Given the description of an element on the screen output the (x, y) to click on. 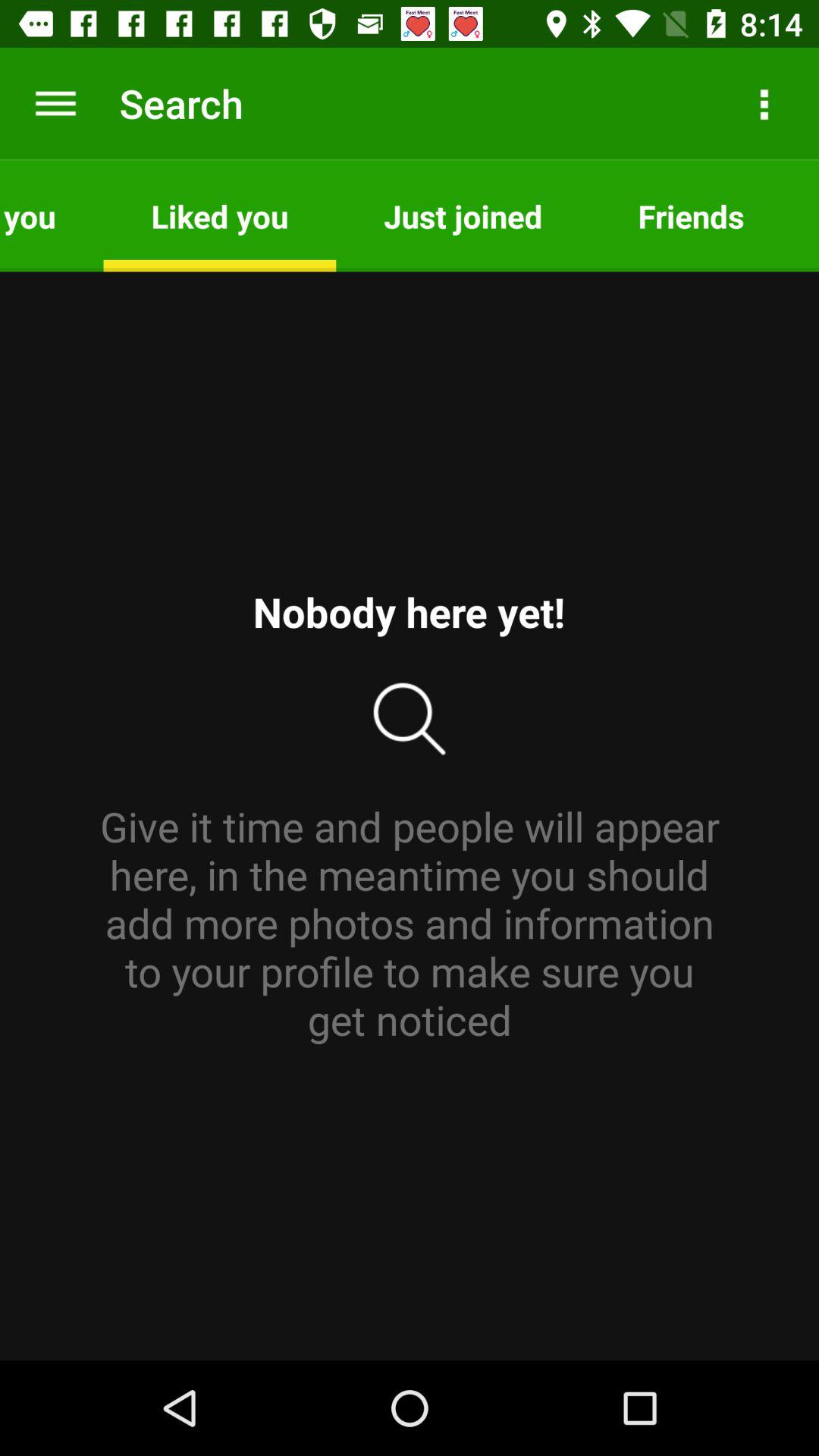
click icon next to search icon (55, 103)
